Given the description of an element on the screen output the (x, y) to click on. 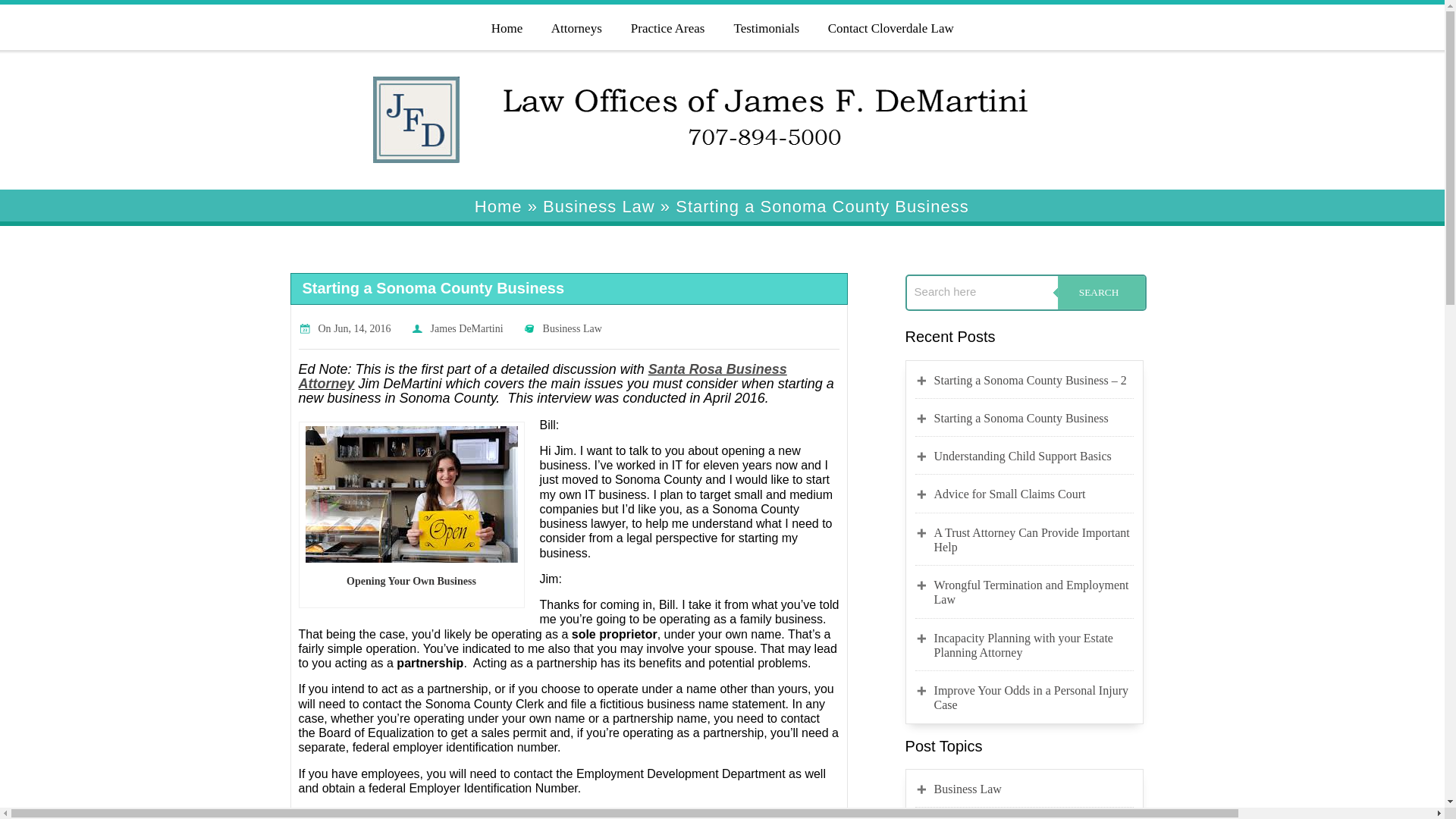
Practice Areas (667, 26)
Posts by James DeMartini (466, 328)
Contact Cloverdale Law (889, 26)
Search here (982, 291)
Home (506, 26)
Business Law (599, 206)
SEARCH (1098, 292)
Attorneys (575, 26)
Testimonials (764, 26)
Sonoma County business attorney (410, 493)
Jun, 14, 2016 (361, 328)
James DeMartini (466, 328)
Home (498, 206)
